Given the description of an element on the screen output the (x, y) to click on. 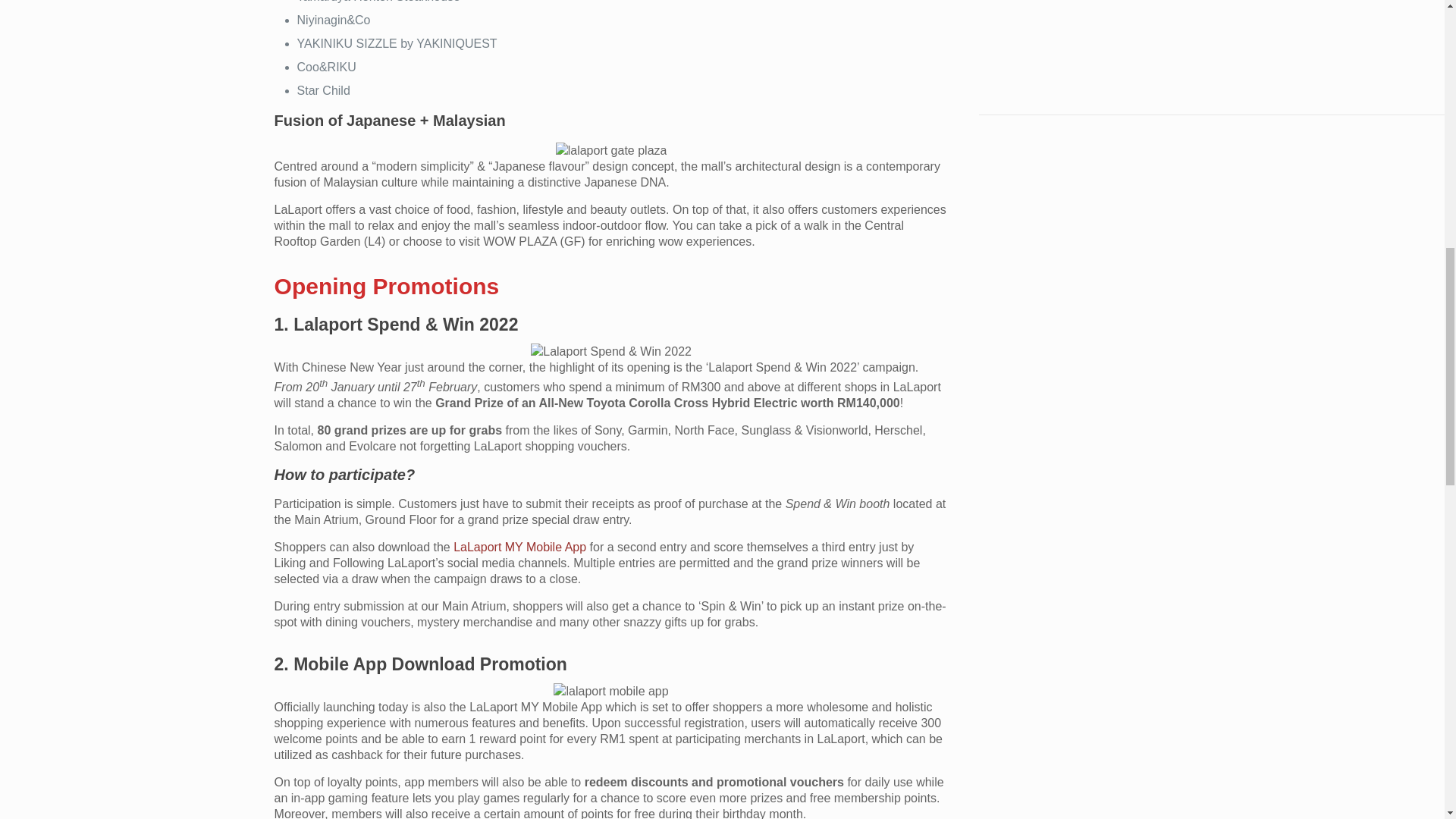
YouTube video player (1074, 38)
LaLaport MY Mobile App (519, 546)
